Given the description of an element on the screen output the (x, y) to click on. 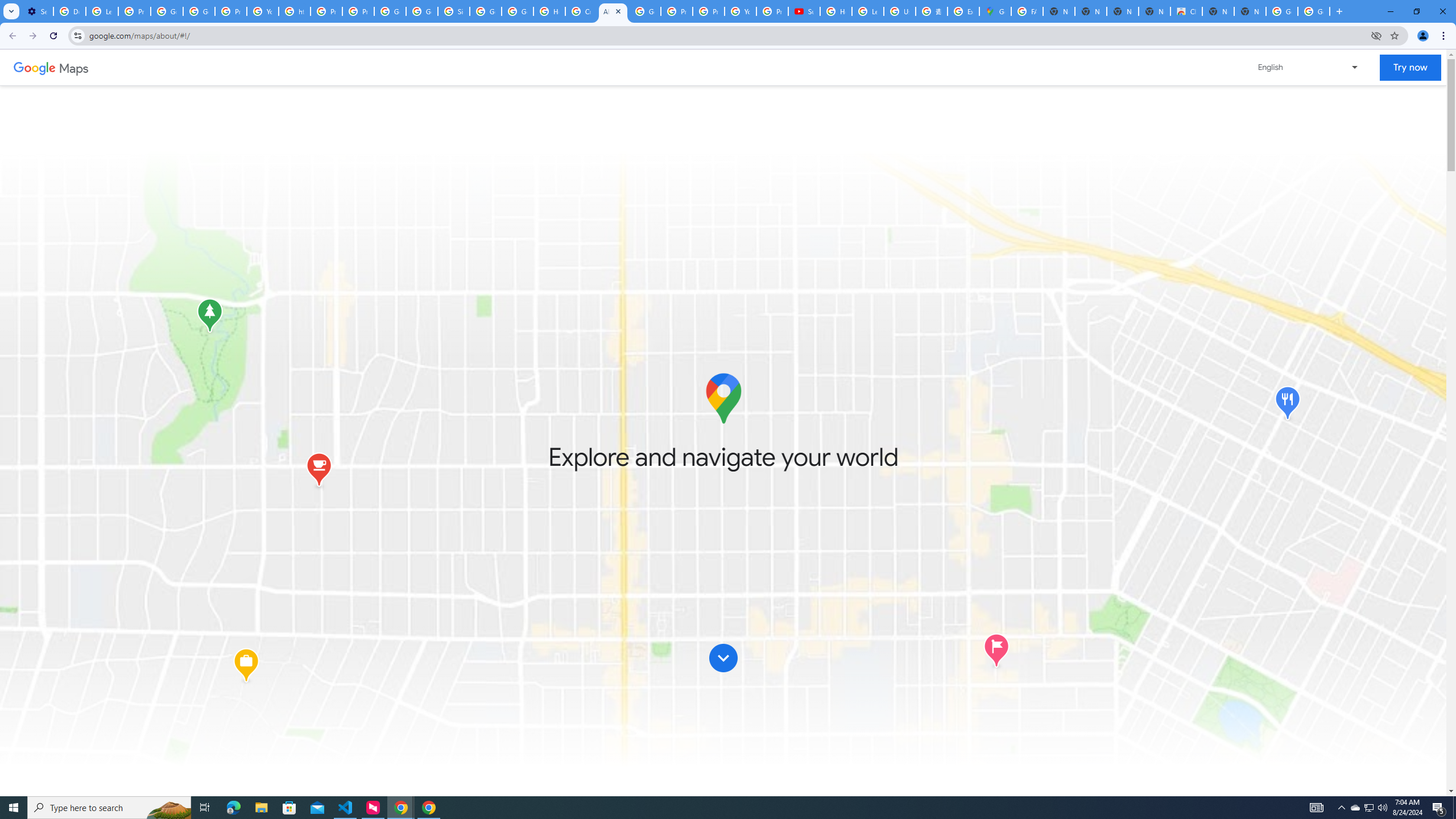
Privacy Help Center - Policies Help (326, 11)
Google Images (1313, 11)
How Chrome protects your passwords - Google Chrome Help (836, 11)
Chrome Web Store (1185, 11)
Google Images (1281, 11)
